Given the description of an element on the screen output the (x, y) to click on. 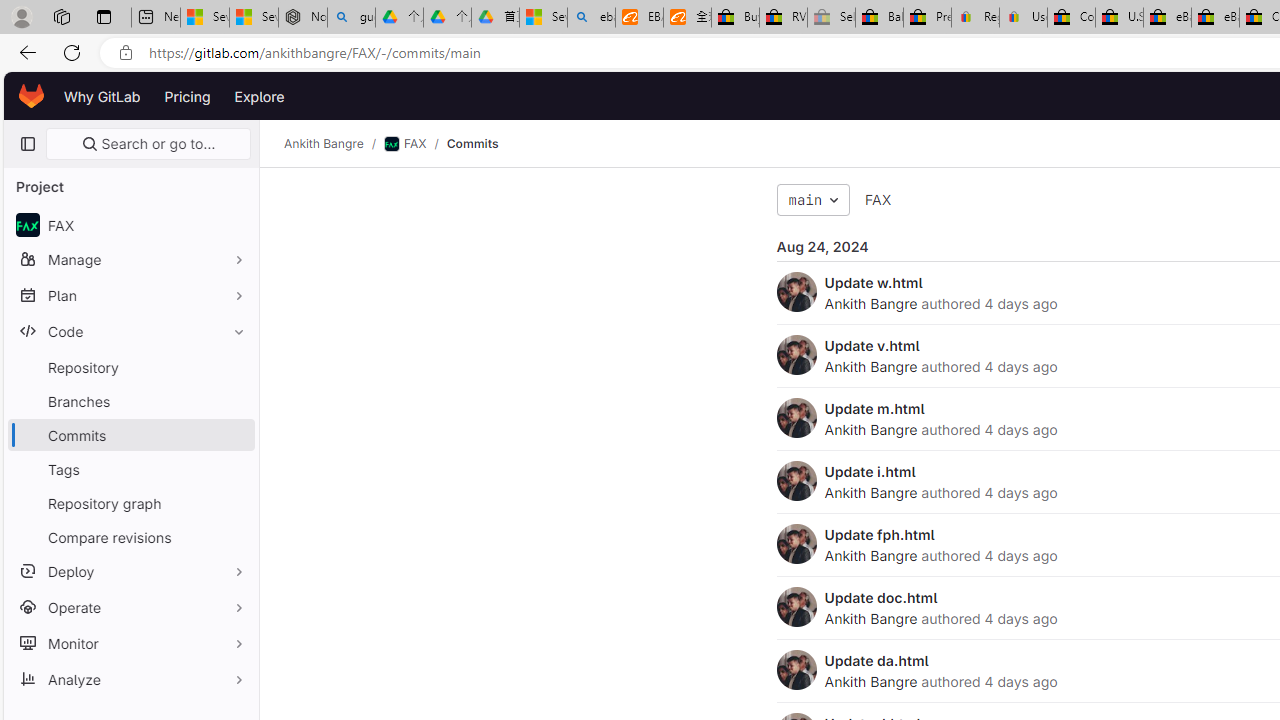
Tags (130, 468)
Update v.html (872, 345)
